Given the description of an element on the screen output the (x, y) to click on. 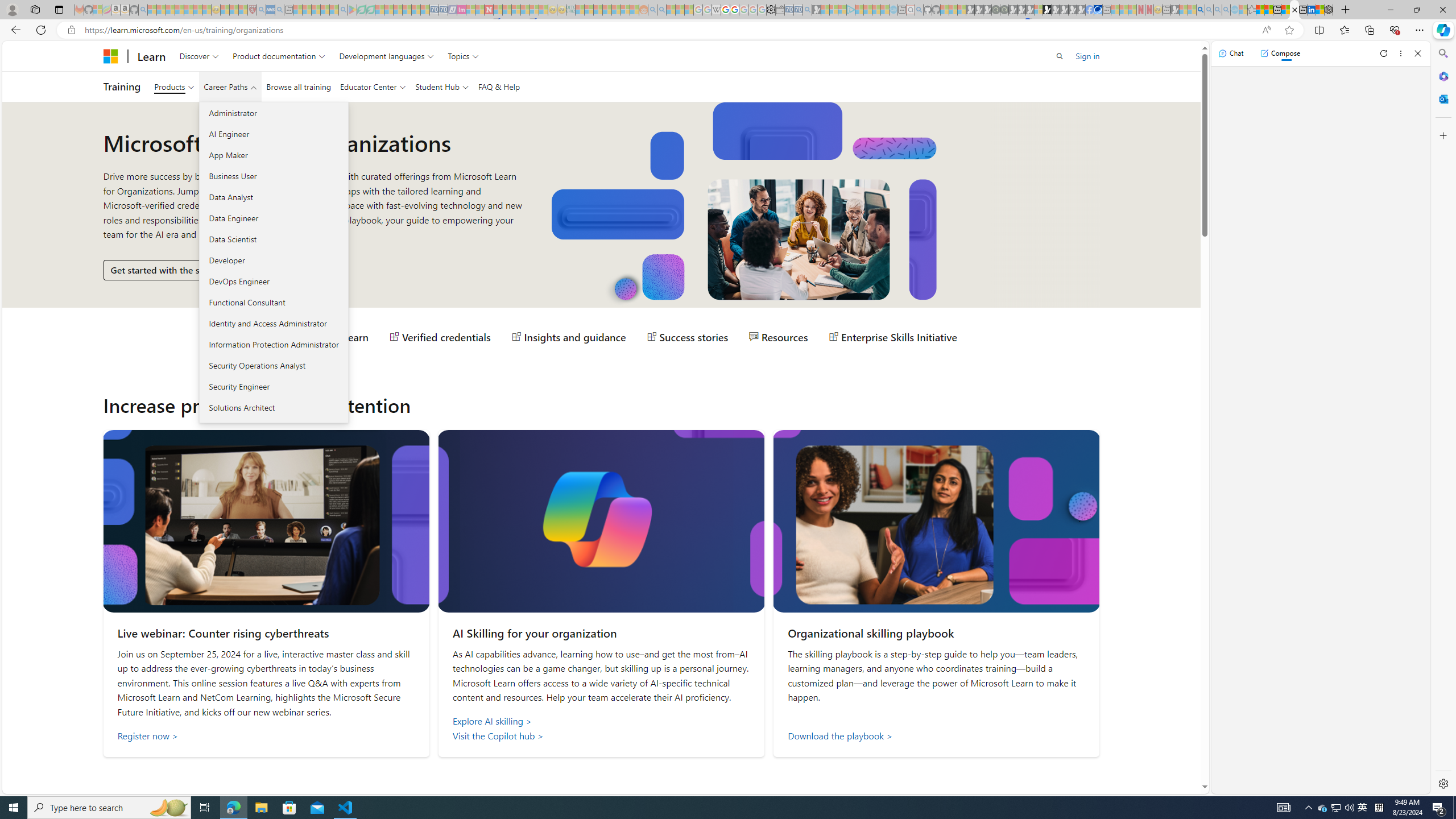
App Maker (273, 154)
Chat (1230, 52)
App Maker (273, 154)
Identity and Access Administrator (273, 323)
Educator Center (372, 86)
github - Search - Sleeping (919, 9)
Product documentation (278, 55)
